Given the description of an element on the screen output the (x, y) to click on. 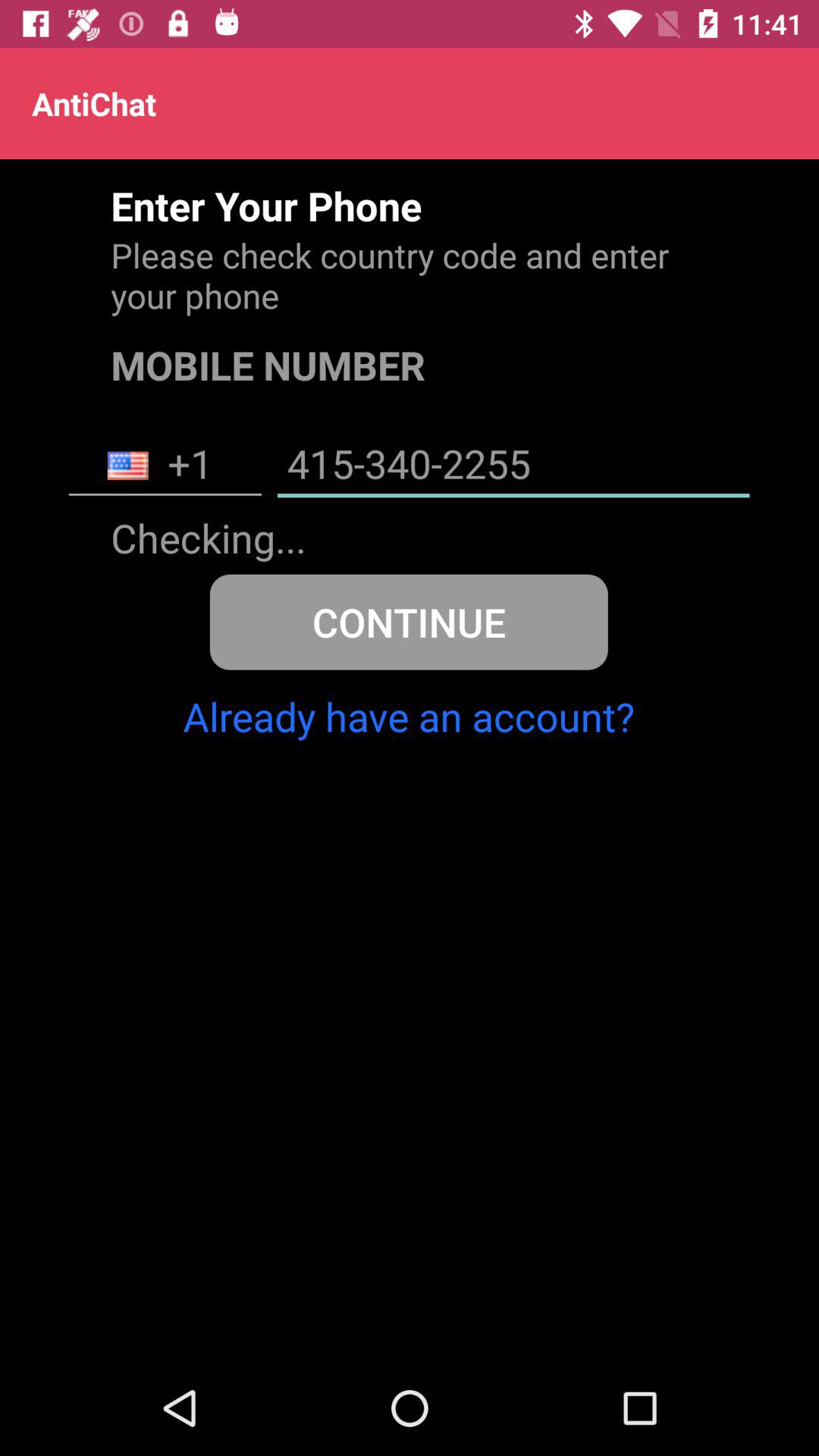
launch 415-340-2255 (513, 466)
